Given the description of an element on the screen output the (x, y) to click on. 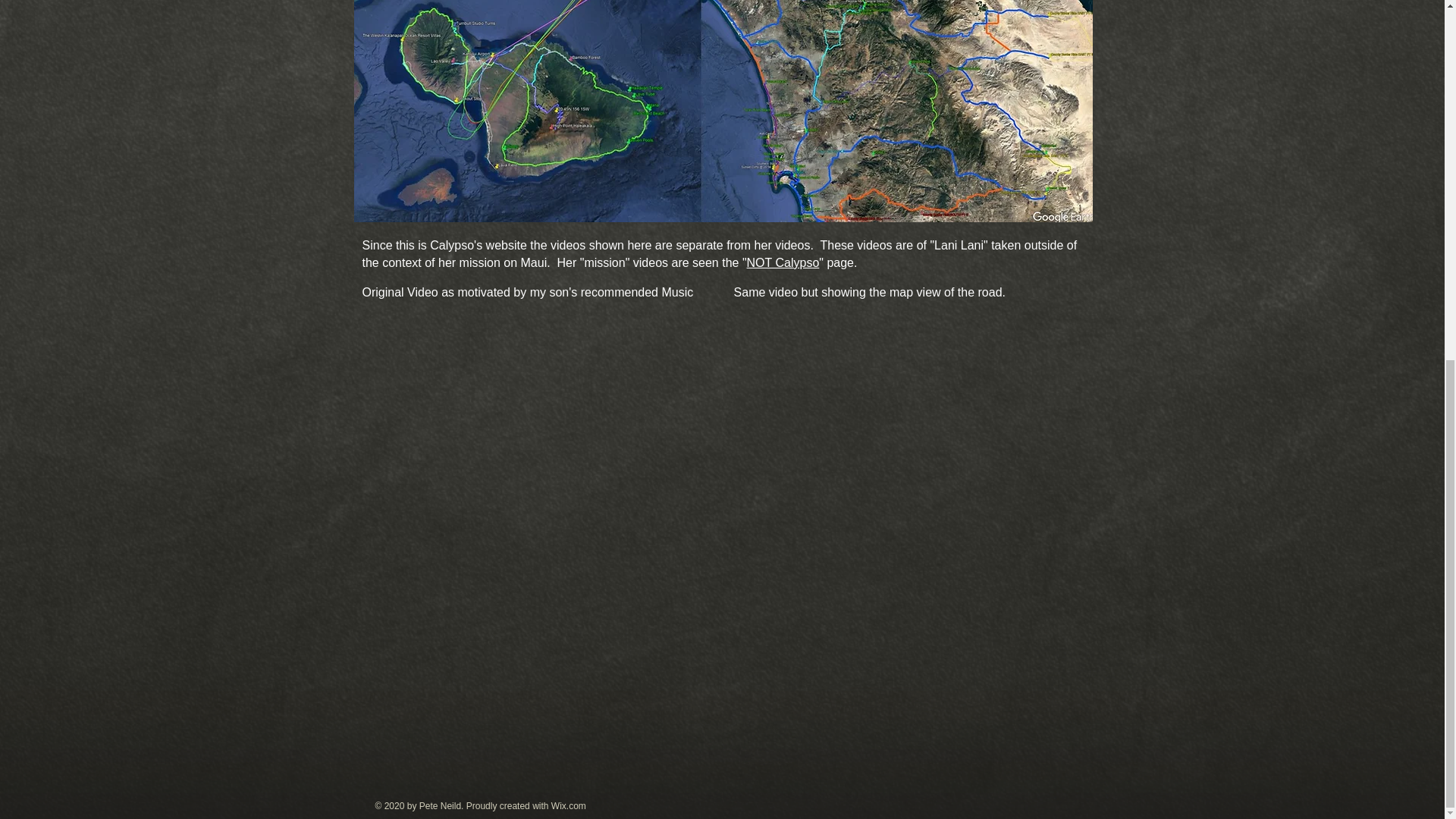
Wix.com (568, 805)
NOT Calypso (782, 262)
